Given the description of an element on the screen output the (x, y) to click on. 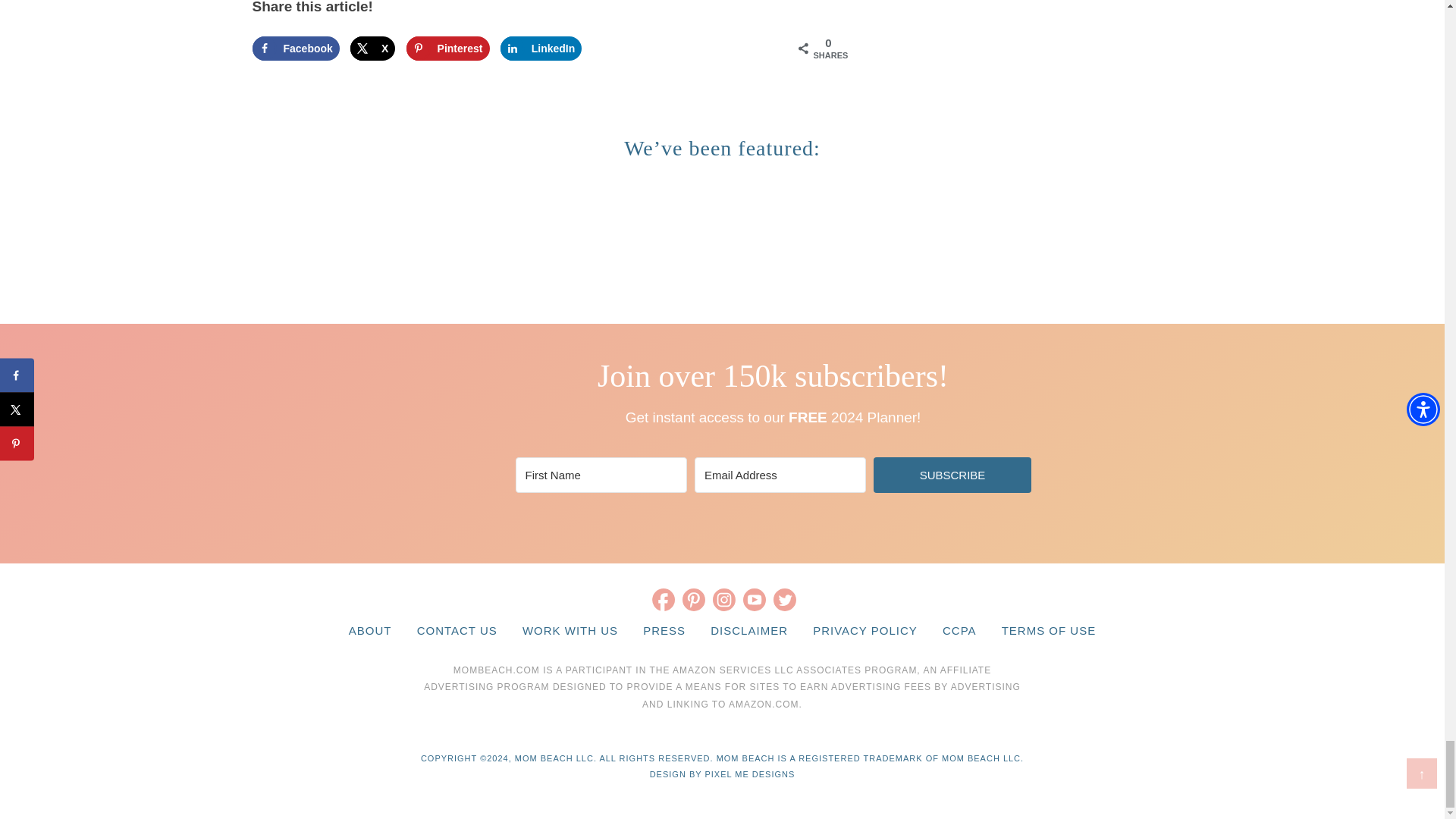
Share on X (372, 48)
Share on LinkedIn (541, 48)
Share on Facebook (295, 48)
Save to Pinterest (447, 48)
